Given the description of an element on the screen output the (x, y) to click on. 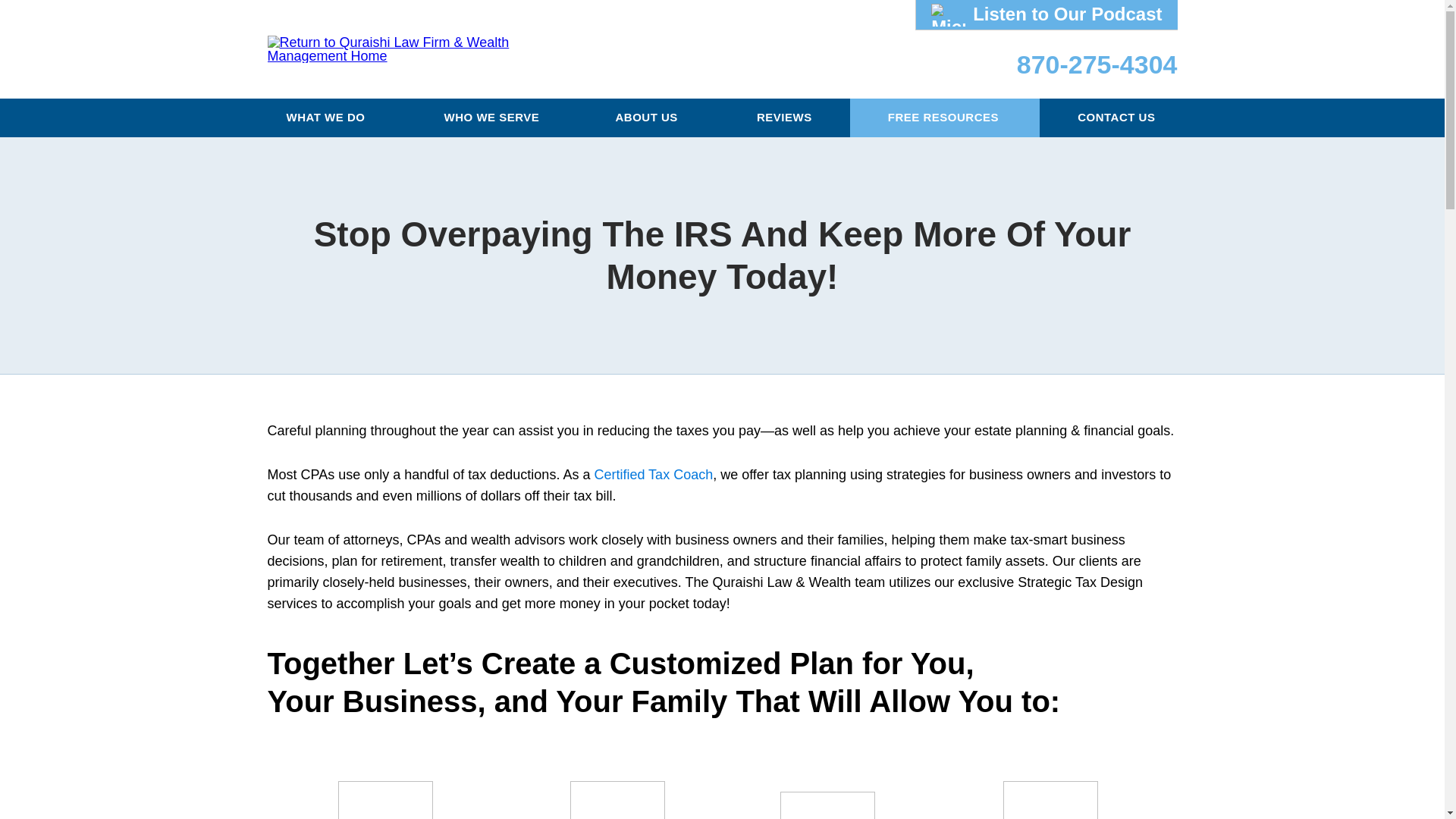
WHAT WE DO (327, 117)
FREE RESOURCES (944, 117)
Listen to Our Podcast (1045, 14)
REVIEWS (784, 117)
ABOUT US (646, 117)
WHO WE SERVE (492, 117)
